Given the description of an element on the screen output the (x, y) to click on. 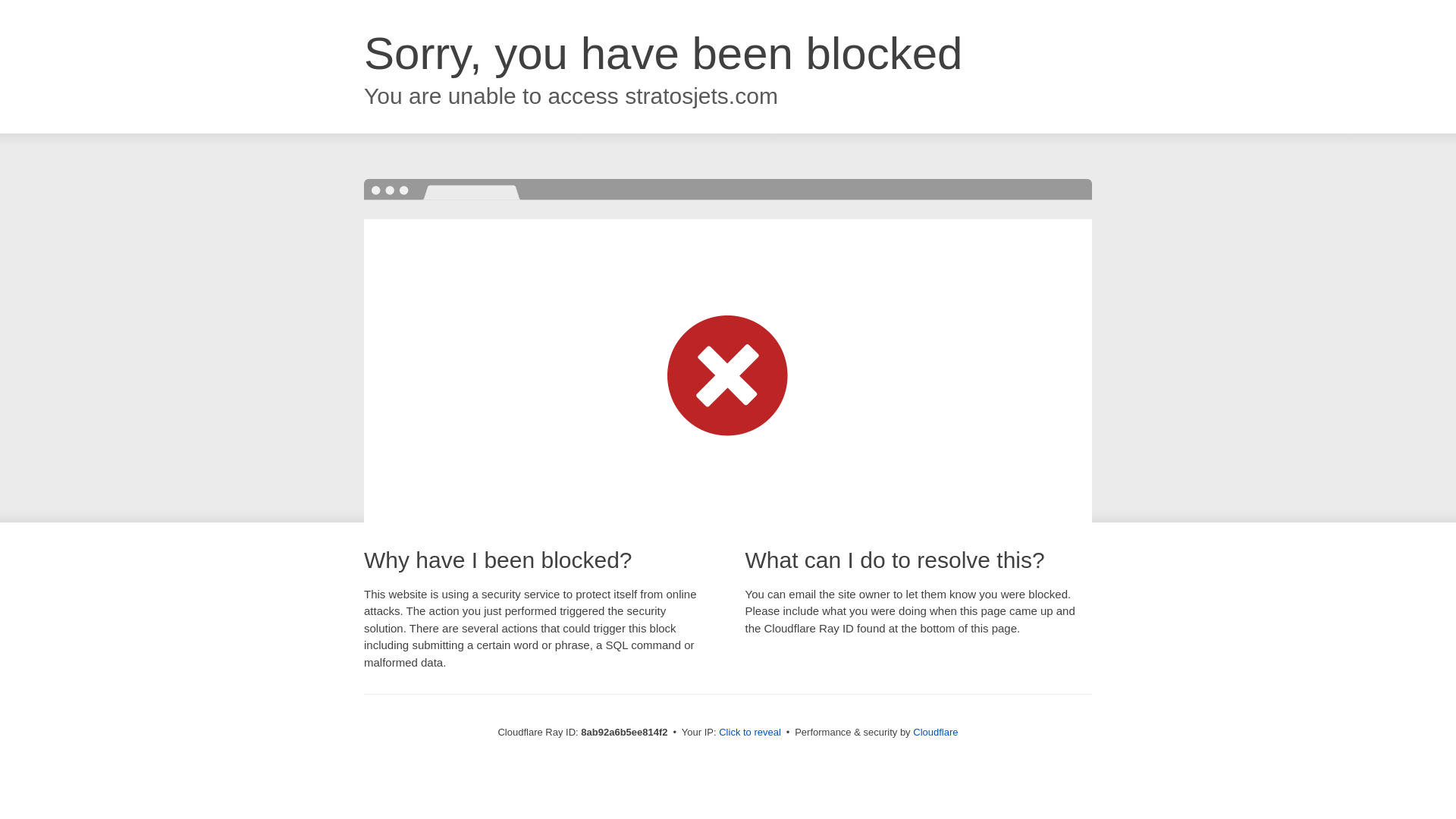
Click to reveal (749, 732)
Cloudflare (935, 731)
